Given the description of an element on the screen output the (x, y) to click on. 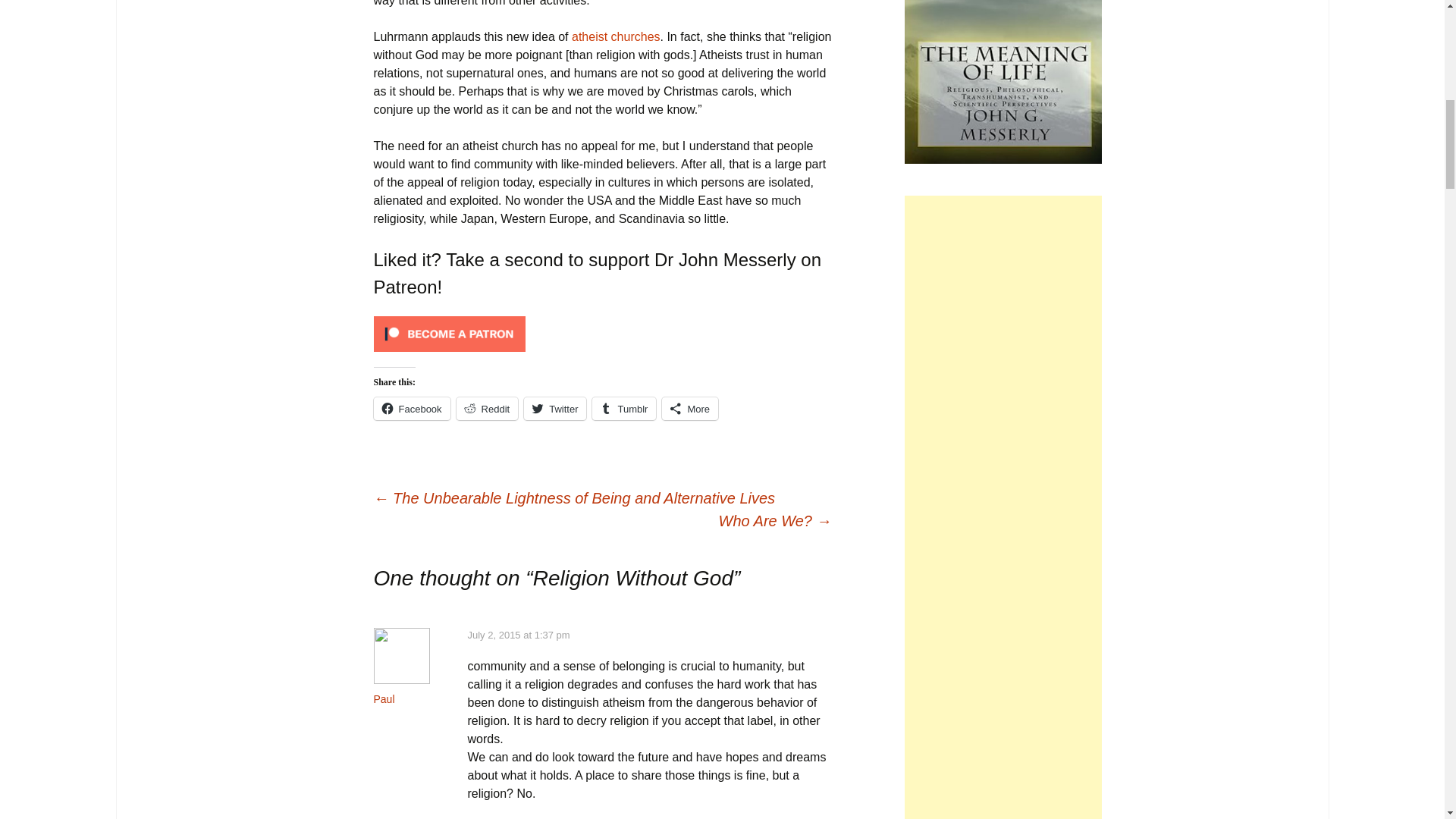
Click to share on Facebook (410, 408)
Click to share on Twitter (555, 408)
Click to share on Tumblr (624, 408)
Click to share on Reddit (487, 408)
